Given the description of an element on the screen output the (x, y) to click on. 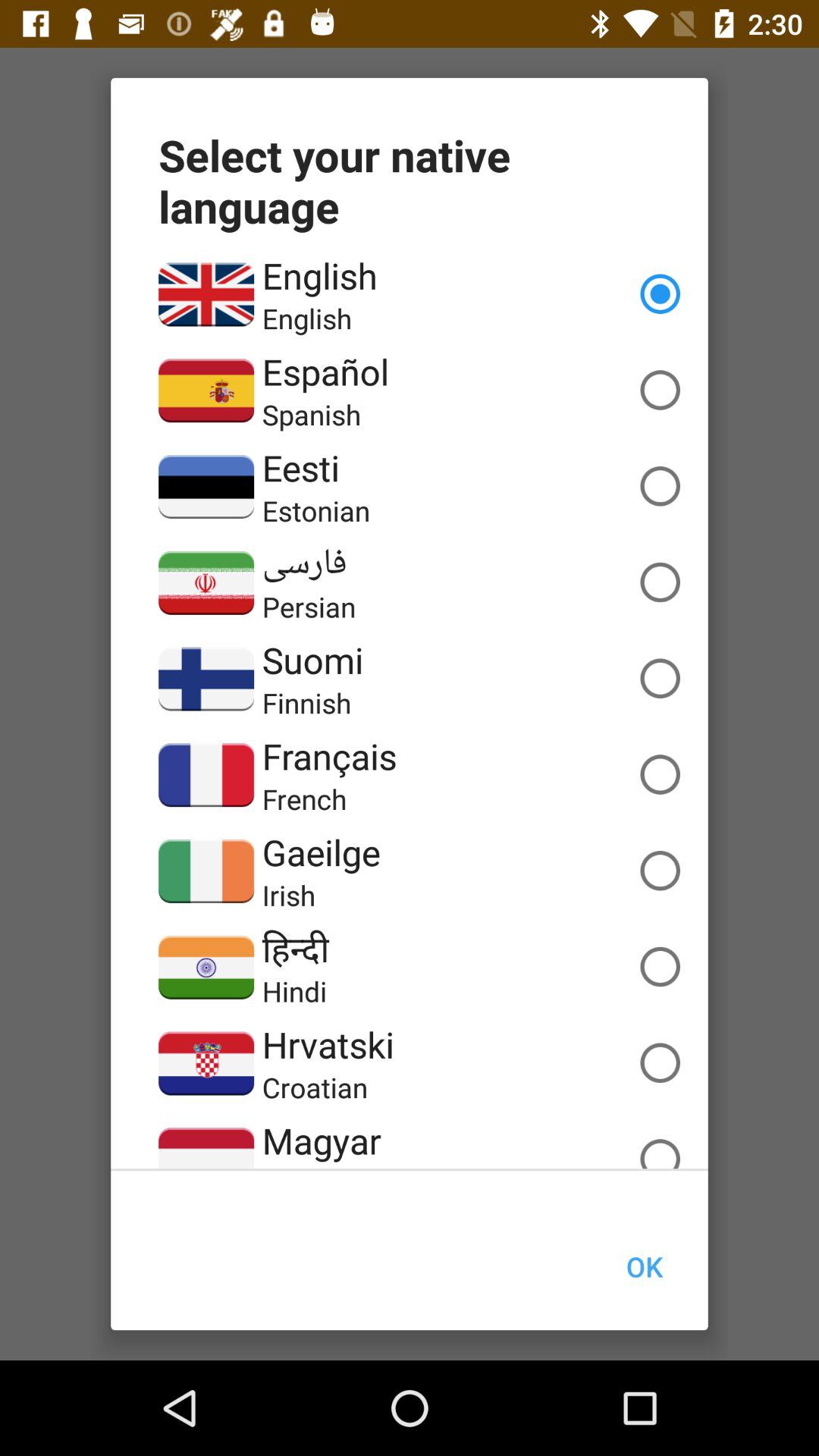
launch the icon above the french item (329, 755)
